Given the description of an element on the screen output the (x, y) to click on. 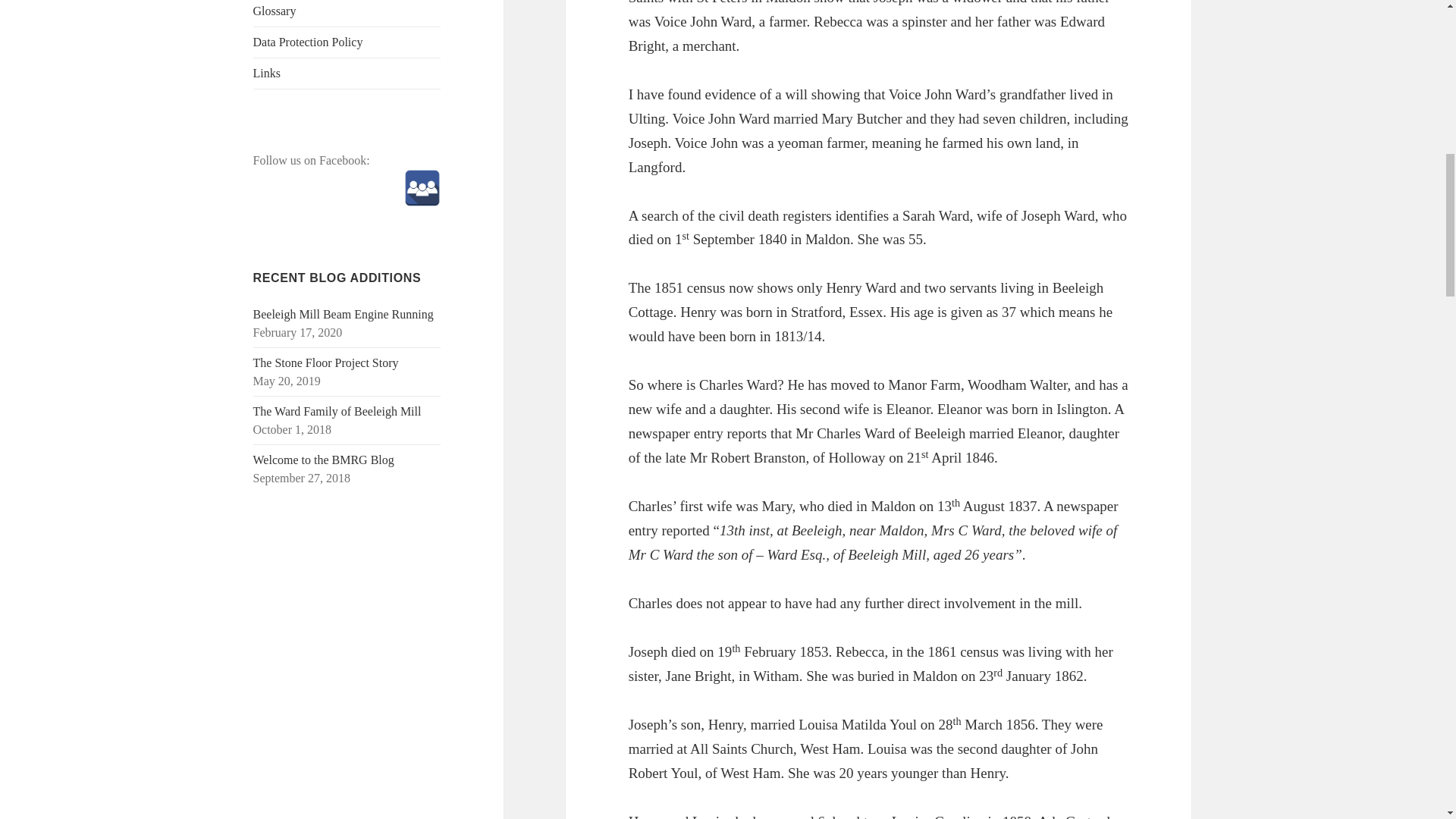
Data Protection Policy (347, 42)
Facebook Group (422, 187)
The Stone Floor Project Story (325, 362)
Glossary (347, 13)
Links (347, 73)
The Ward Family of Beeleigh Mill (337, 410)
Beeleigh Mill Beam Engine Running (343, 314)
Welcome to the BMRG Blog (323, 459)
